Given the description of an element on the screen output the (x, y) to click on. 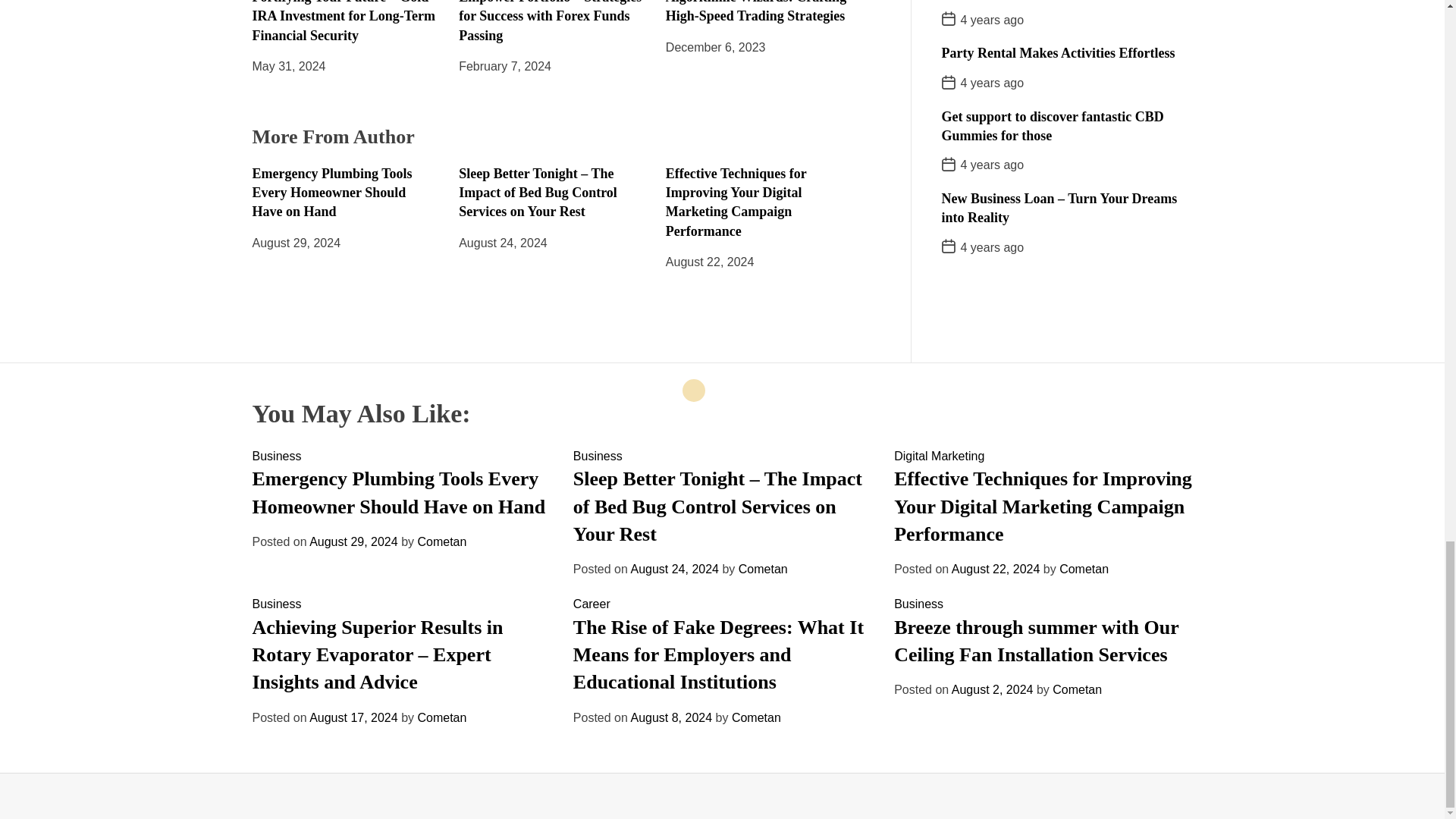
Algorithmic Wizards: Crafting High-Speed Trading Strategies (755, 11)
Emergency Plumbing Tools Every Homeowner Should Have on Hand (331, 192)
